Given the description of an element on the screen output the (x, y) to click on. 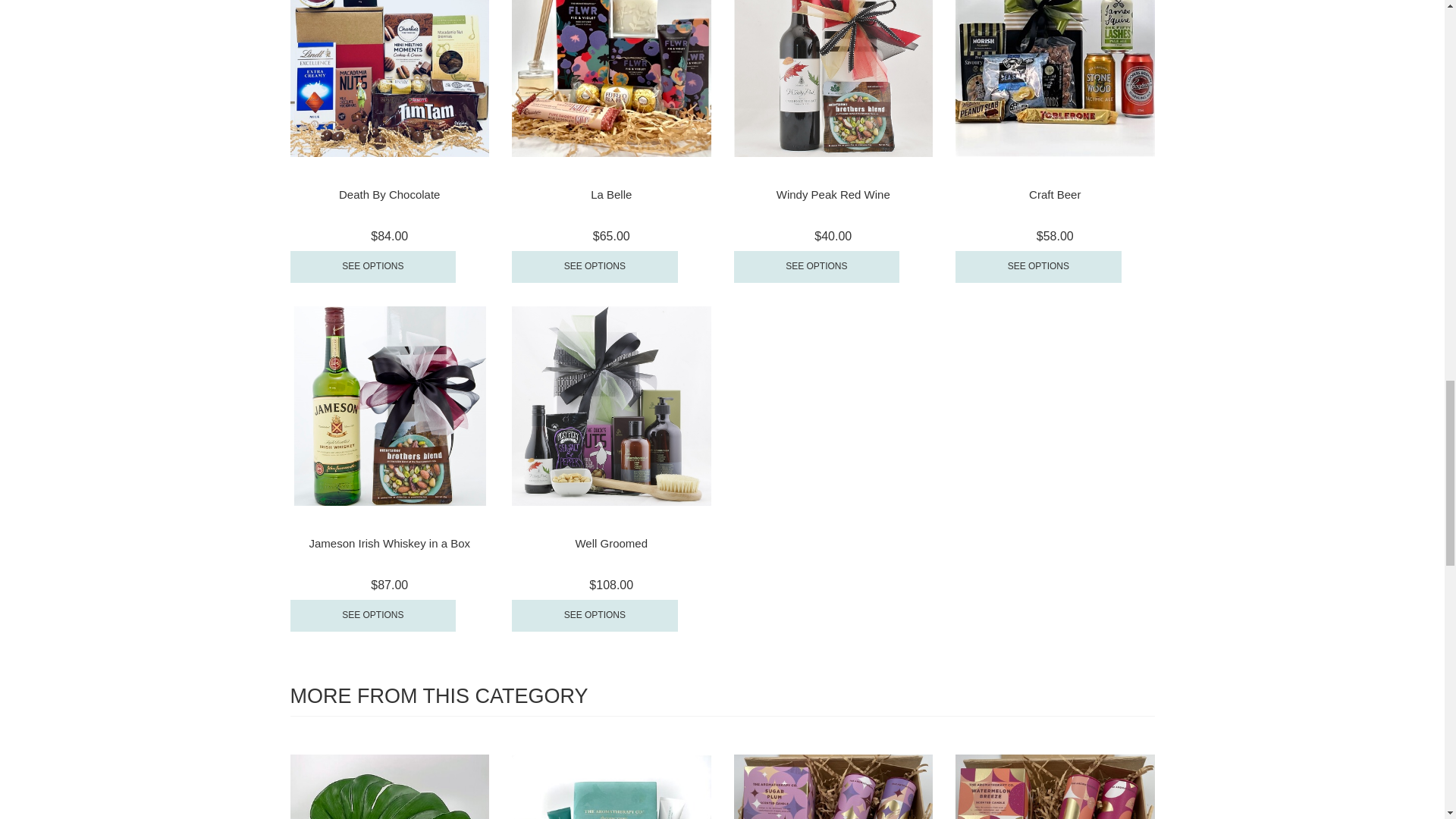
La Belle (611, 194)
Windy Peak Red Wine (832, 194)
Buying Options (816, 266)
Death By Chocolate (389, 194)
Buying Options (372, 266)
Buying Options (595, 266)
Craft Beer (1054, 194)
